Given the description of an element on the screen output the (x, y) to click on. 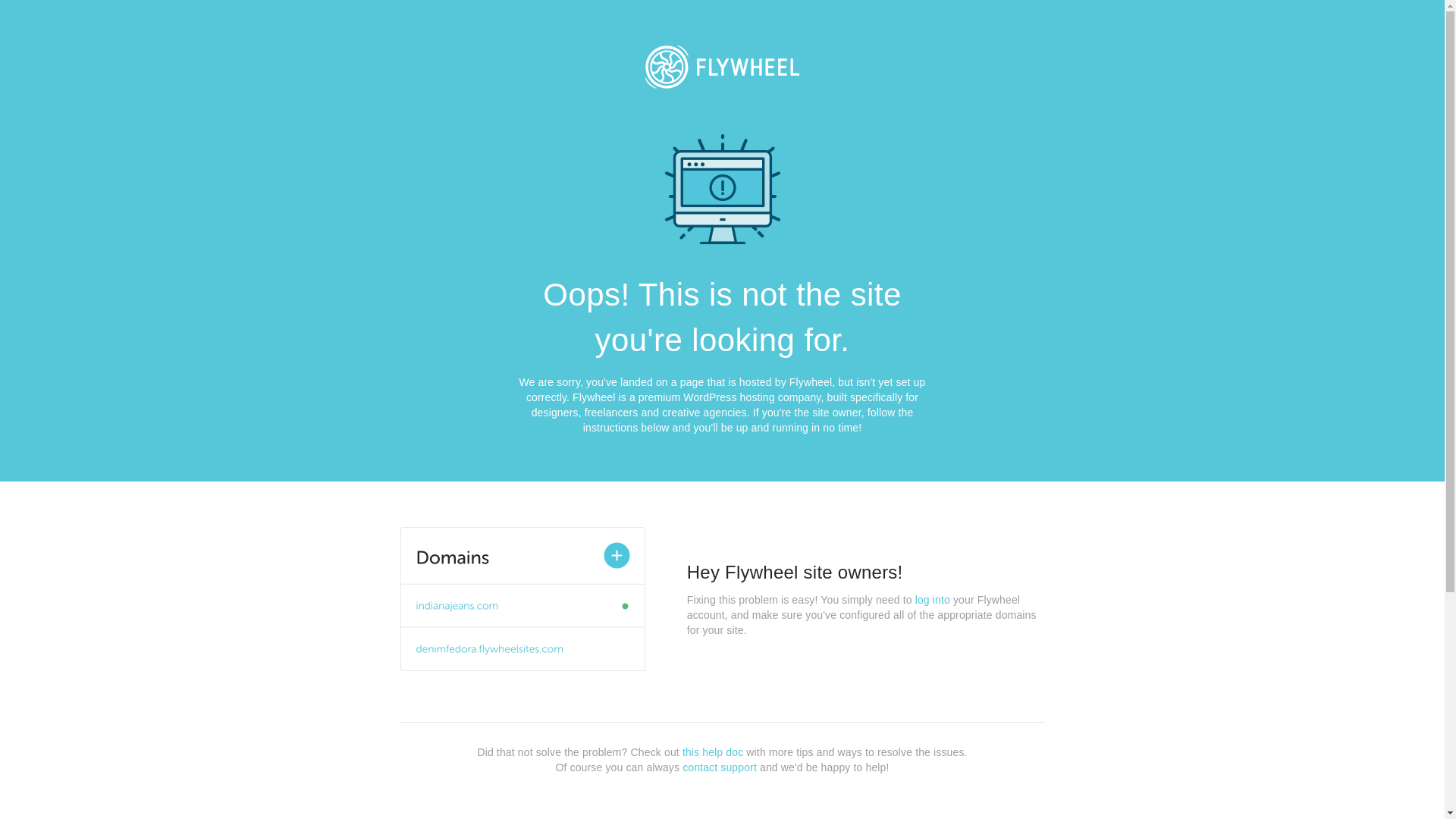
this help doc (712, 752)
contact support (719, 767)
log into (932, 599)
